Given the description of an element on the screen output the (x, y) to click on. 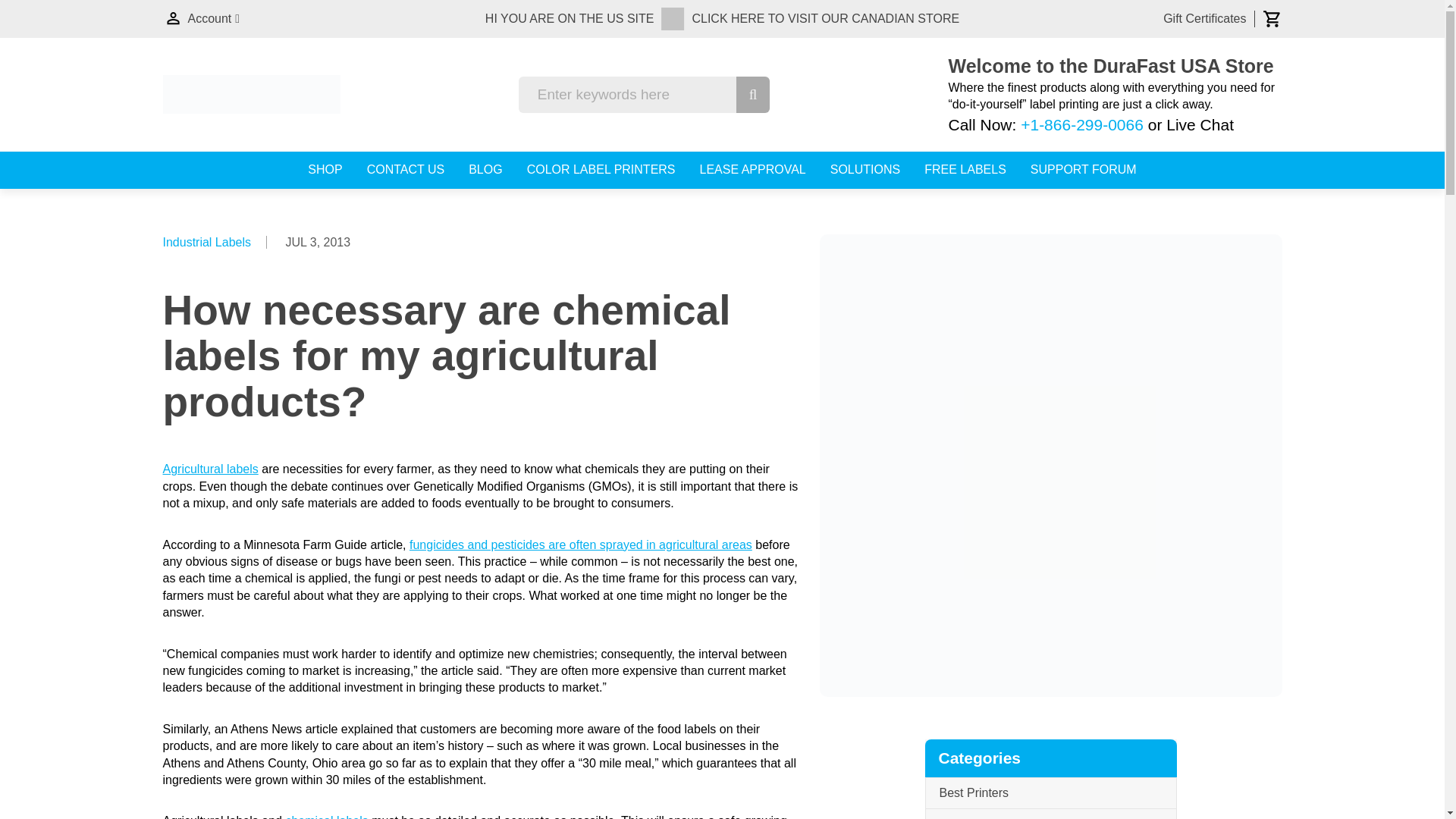
CONTACT US (405, 169)
BLOG (485, 169)
SOLUTIONS (864, 169)
Best Printers (1049, 793)
LEASE APPROVAL (753, 169)
Agricultural labels (209, 468)
chemical labels (326, 816)
Drum Labels (1049, 814)
COLOR LABEL PRINTERS (601, 169)
CLICK HERE TO VISIT OUR CANADIAN STORE (825, 18)
Gift Certificates (1204, 18)
SHOP (324, 169)
FREE LABELS (965, 169)
SUPPORT FORUM (1083, 169)
